Given the description of an element on the screen output the (x, y) to click on. 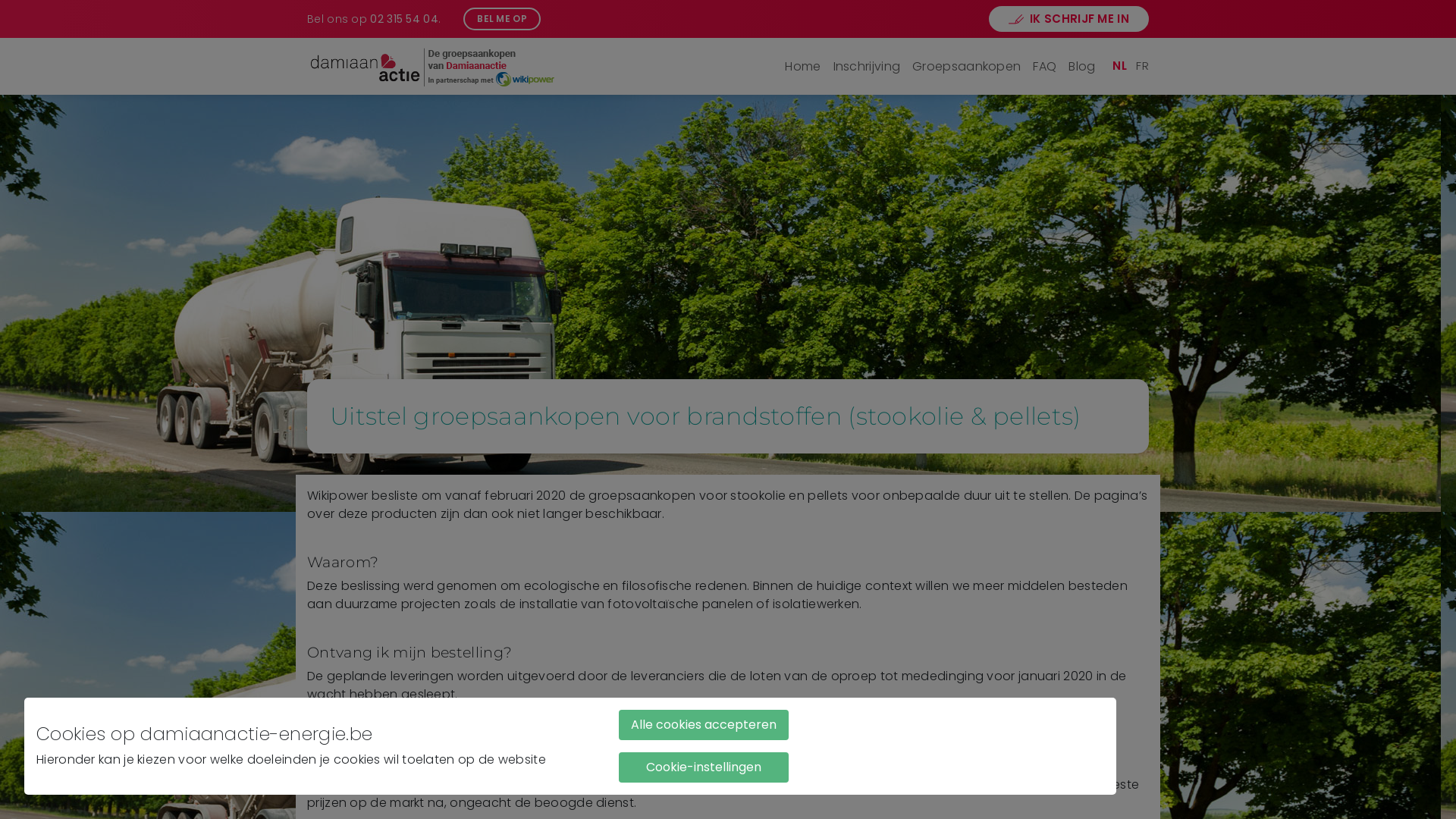
Inschrijving Element type: text (866, 66)
Blog Element type: text (1081, 66)
FAQ Element type: text (1044, 66)
Cookie-instellingen Element type: text (703, 767)
BEL ME OP Element type: text (501, 18)
Alle cookies accepteren Element type: text (703, 724)
02 315 54 04 Element type: text (404, 17)
FR Element type: text (1141, 65)
Home Element type: text (802, 66)
IK SCHRIJF ME IN Element type: text (1068, 19)
